Given the description of an element on the screen output the (x, y) to click on. 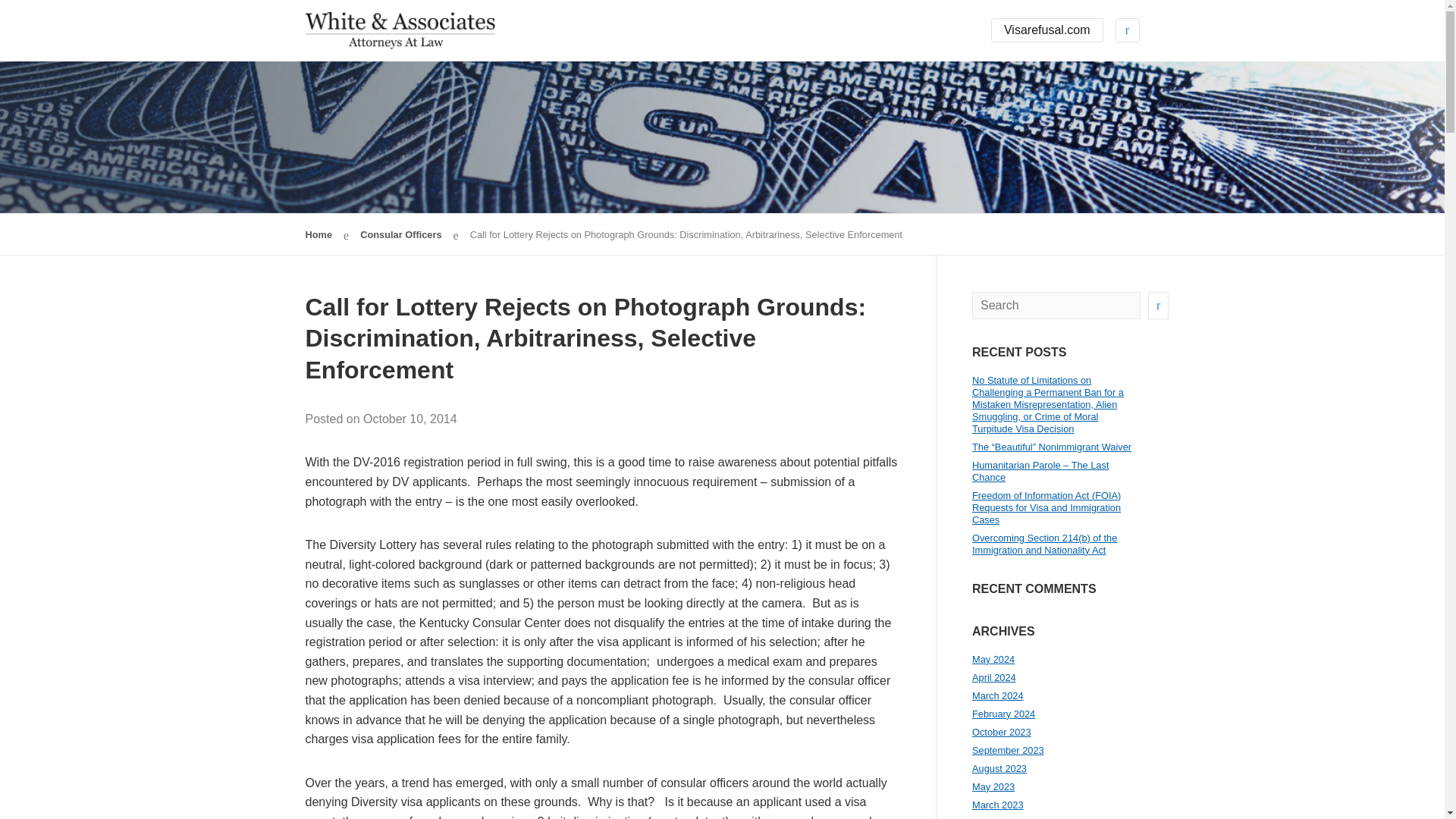
Consular Officers (400, 234)
August 2023 (999, 767)
March 2023 (997, 804)
April 2024 (994, 677)
May 2023 (993, 786)
Home (317, 234)
October 2023 (1001, 731)
February 2024 (1003, 713)
Visarefusal.com (1047, 30)
